Given the description of an element on the screen output the (x, y) to click on. 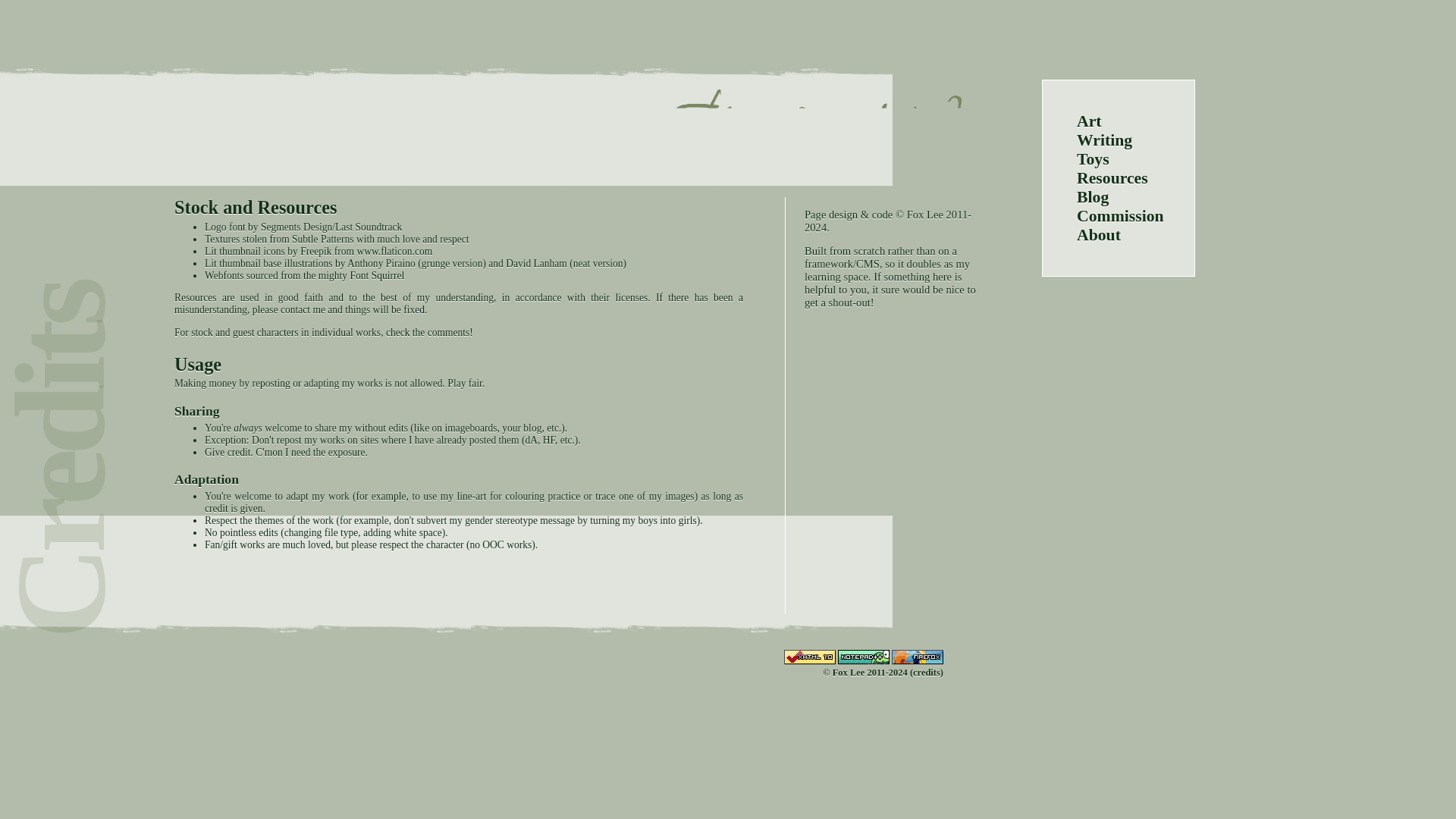
Fox's Blog (1092, 197)
Commission Fox (1120, 216)
About Fox (1099, 235)
Toys by Fox (1093, 158)
Escape IE. The internet will thank you. (917, 657)
Commission (1120, 216)
Blog (1092, 197)
Writing by Fox (1104, 140)
Subtle Patterns (322, 238)
Writing (1104, 140)
